Given the description of an element on the screen output the (x, y) to click on. 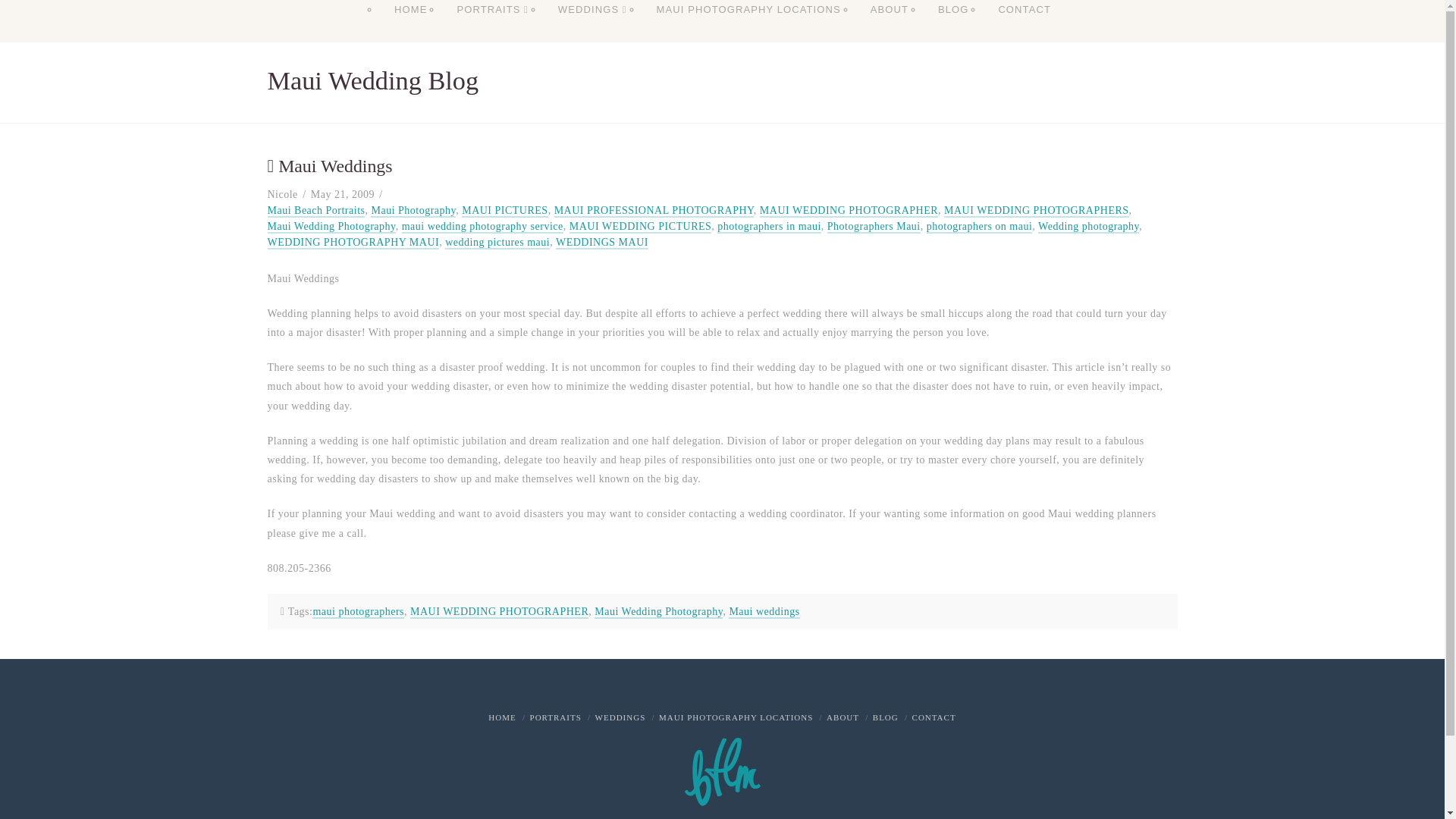
Maui Beach Portraits (315, 210)
Maui Photography (413, 210)
PORTRAITS (491, 23)
CONTACT (1023, 23)
BLOG (952, 23)
Photographers Maui (873, 226)
MAUI WEDDING PHOTOGRAPHERS (1036, 210)
MAUI WEDDING PHOTOGRAPHER (848, 210)
photographers in maui (769, 226)
maui wedding photography service (482, 226)
